Given the description of an element on the screen output the (x, y) to click on. 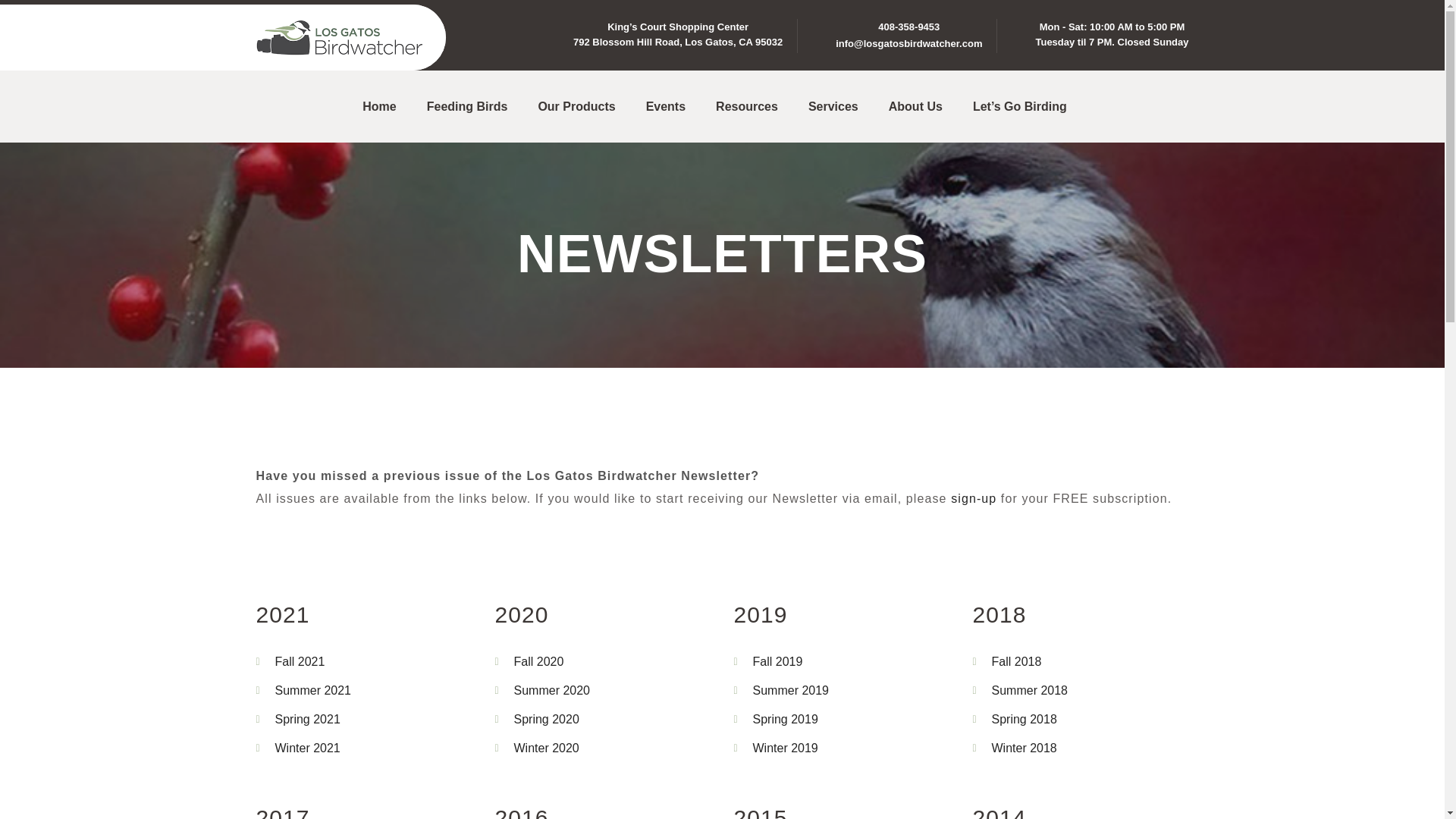
Events (665, 106)
Resources (746, 106)
408-358-9453 (908, 27)
sign-up (972, 498)
About Us (915, 106)
Fall 2021 (299, 661)
Feeding Birds (467, 106)
Home (379, 106)
Our Products (575, 106)
Services (833, 106)
